Given the description of an element on the screen output the (x, y) to click on. 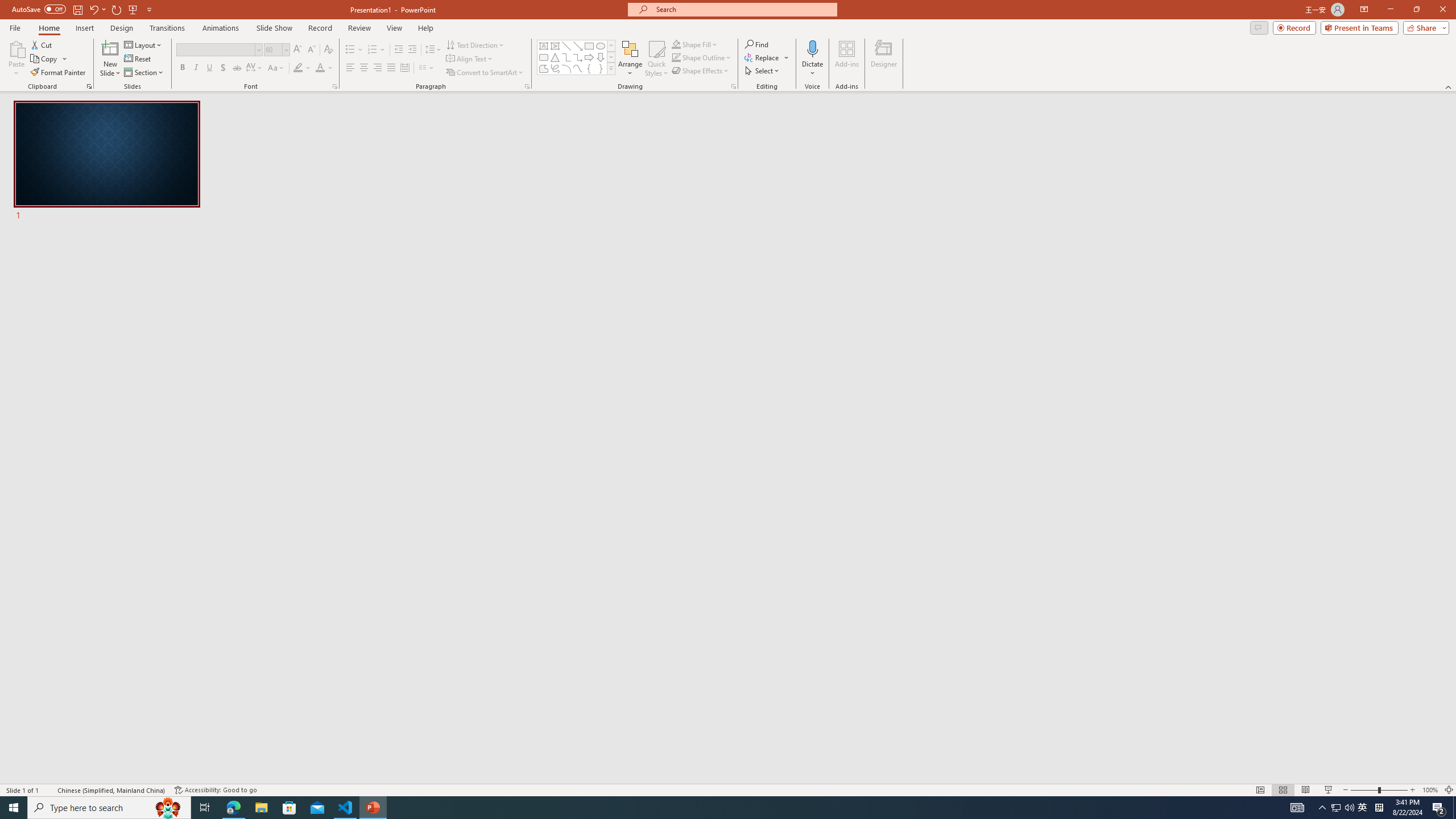
Shape Fill (694, 44)
Center (363, 67)
New Slide (110, 58)
Right Brace (600, 68)
Shape Effects (700, 69)
Section (144, 72)
Bold (182, 67)
Increase Indent (412, 49)
Font Size (273, 49)
Font Color (324, 67)
